Given the description of an element on the screen output the (x, y) to click on. 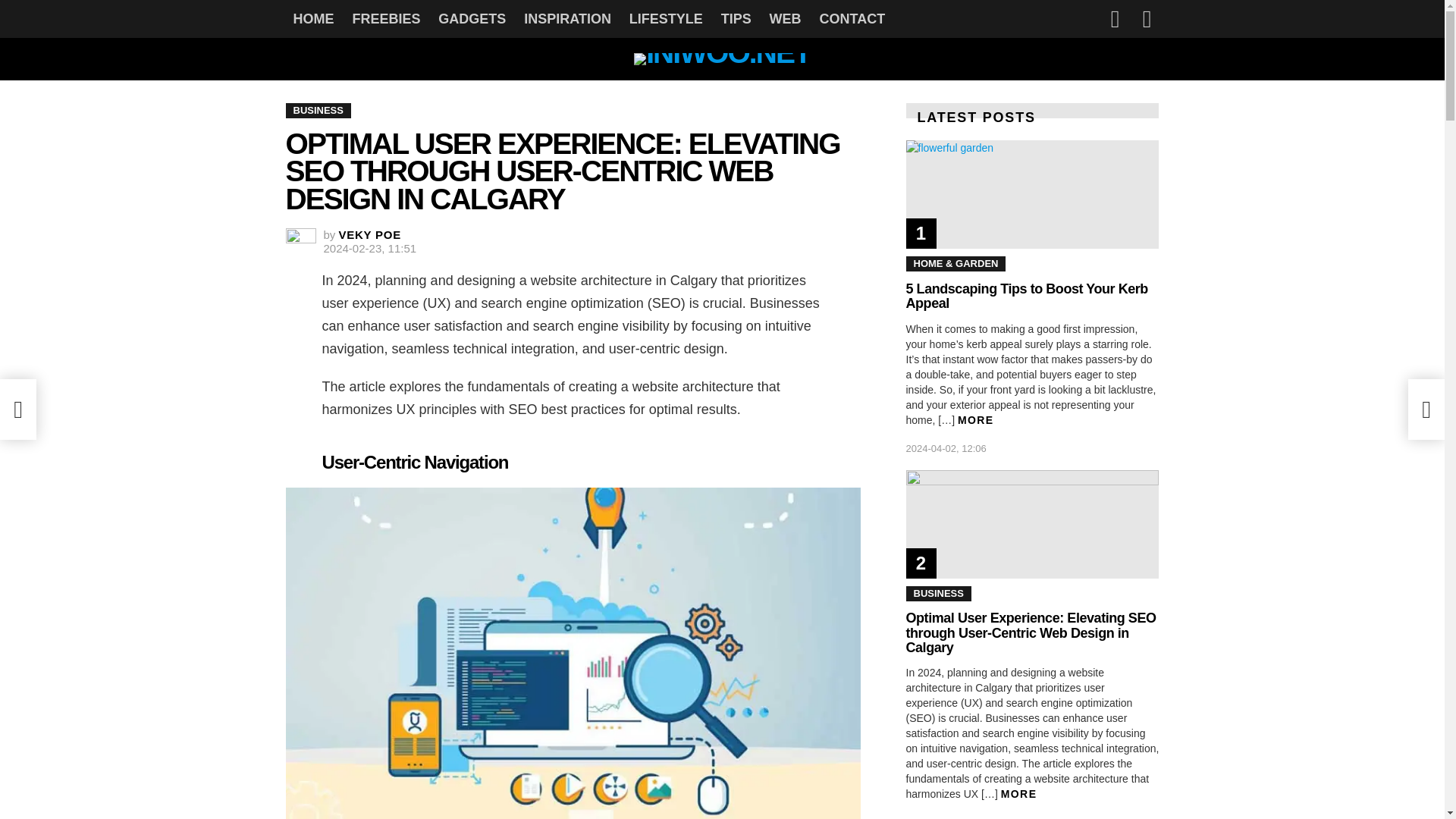
Posts by Veky Poe (370, 234)
LIFESTYLE (665, 18)
TIPS (735, 18)
CONTACT (851, 18)
GADGETS (471, 18)
VEKY POE (370, 234)
HOME (312, 18)
WEB (785, 18)
INSPIRATION (567, 18)
BUSINESS (317, 110)
